Given the description of an element on the screen output the (x, y) to click on. 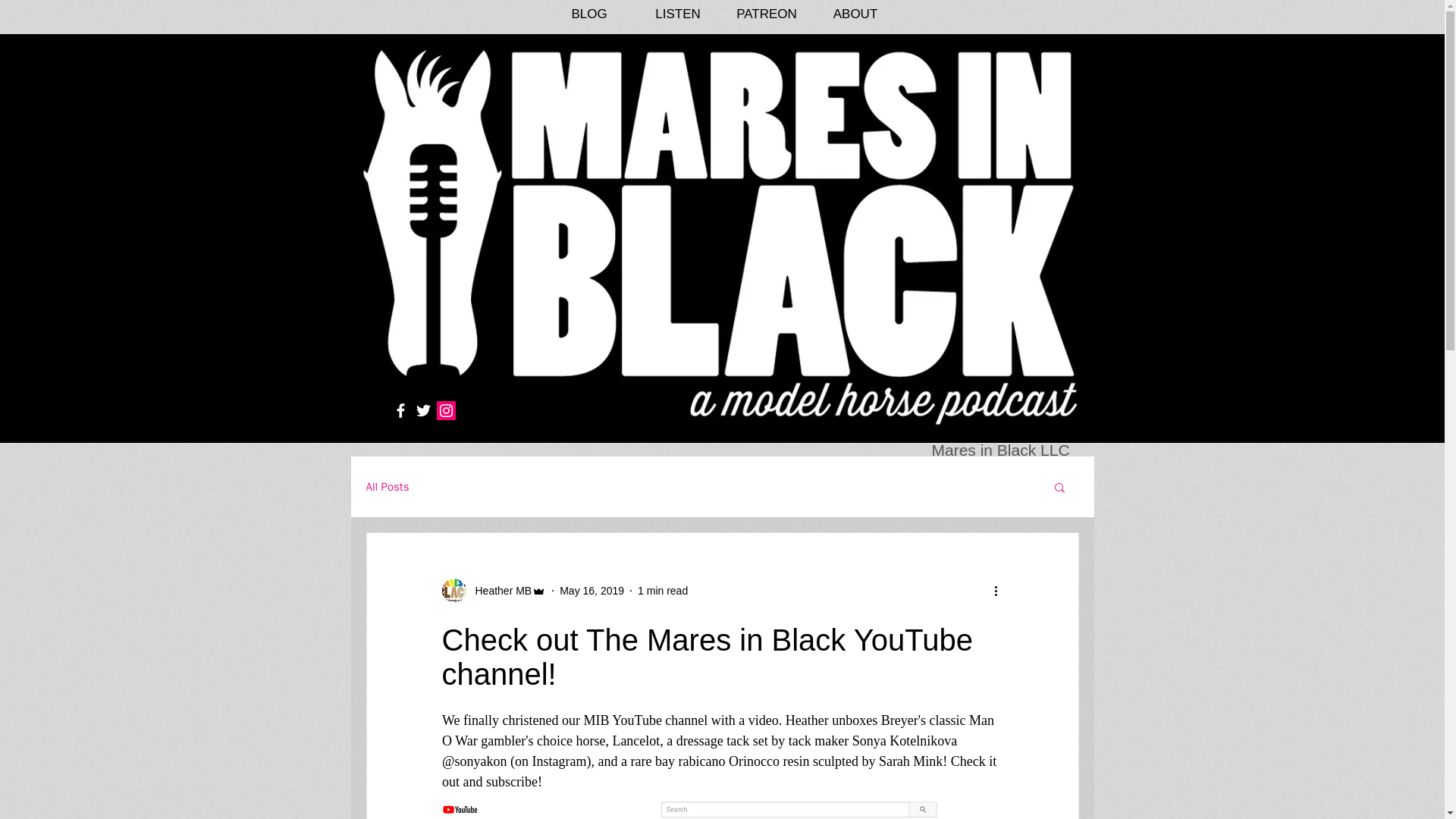
PATREON (766, 14)
ABOUT (854, 14)
BLOG (588, 14)
All Posts (387, 486)
Heather MB (493, 590)
Mares in Black Podcast channel on YouTube! (722, 810)
LISTEN (677, 14)
May 16, 2019 (591, 590)
Heather MB (498, 590)
1 min read (662, 590)
